Given the description of an element on the screen output the (x, y) to click on. 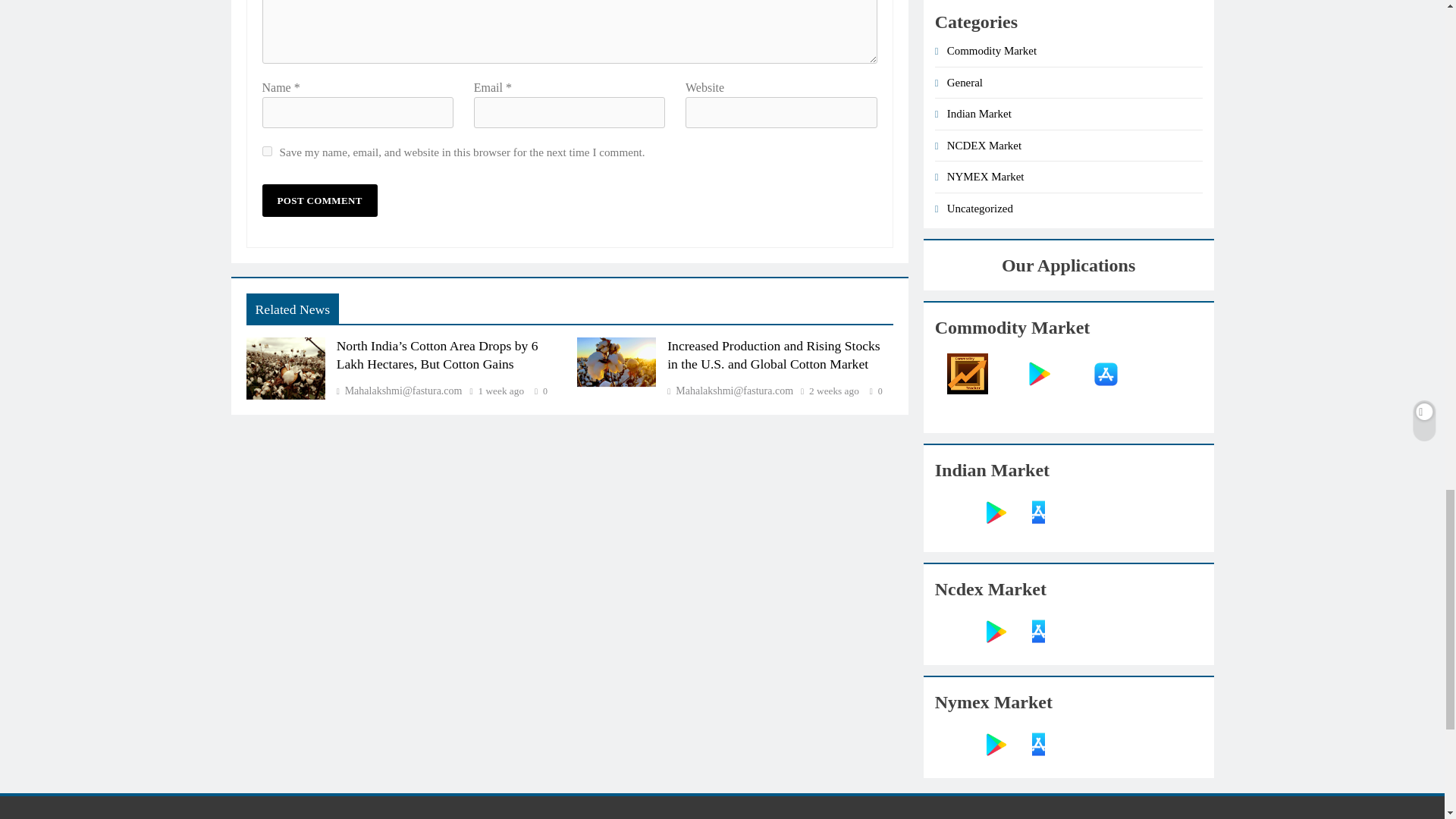
yes (267, 151)
Post Comment (319, 200)
